Given the description of an element on the screen output the (x, y) to click on. 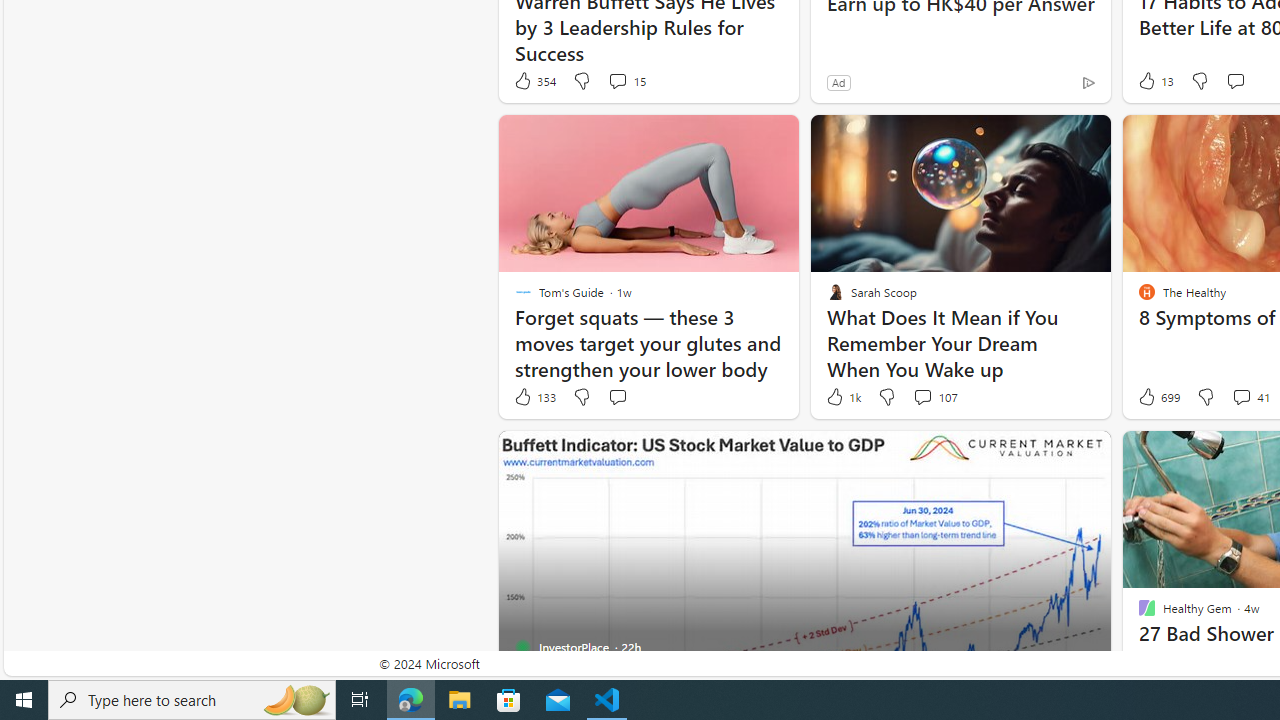
13 Like (1154, 80)
699 Like (1157, 397)
View comments 107 Comment (922, 396)
View comments 107 Comment (934, 397)
354 Like (534, 80)
View comments 15 Comment (617, 80)
1k Like (842, 397)
Hide this story (1050, 454)
View comments 41 Comment (1249, 397)
